Given the description of an element on the screen output the (x, y) to click on. 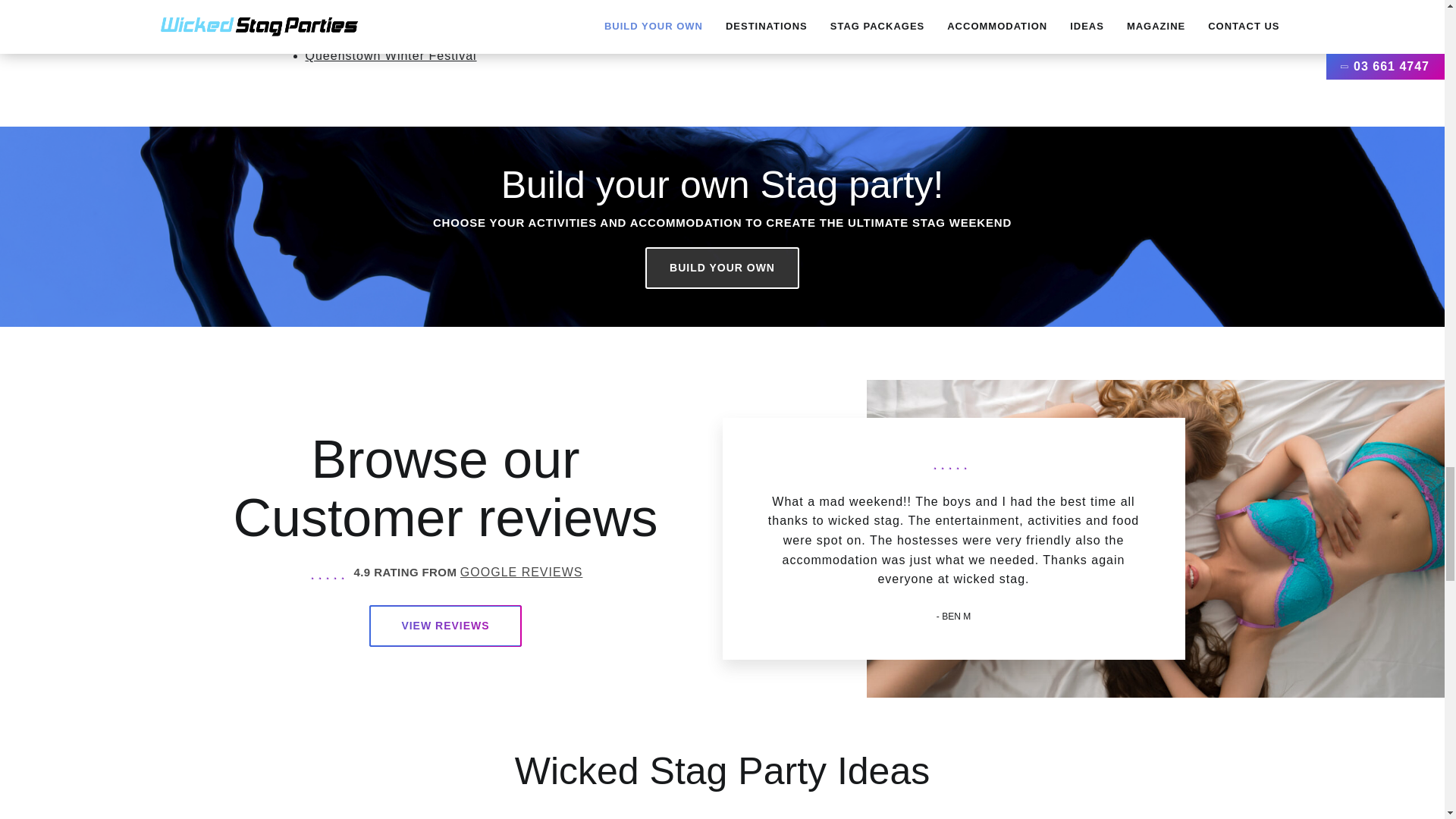
View Reviews (445, 626)
Google Reviews (521, 571)
Build Your Own (722, 268)
